Given the description of an element on the screen output the (x, y) to click on. 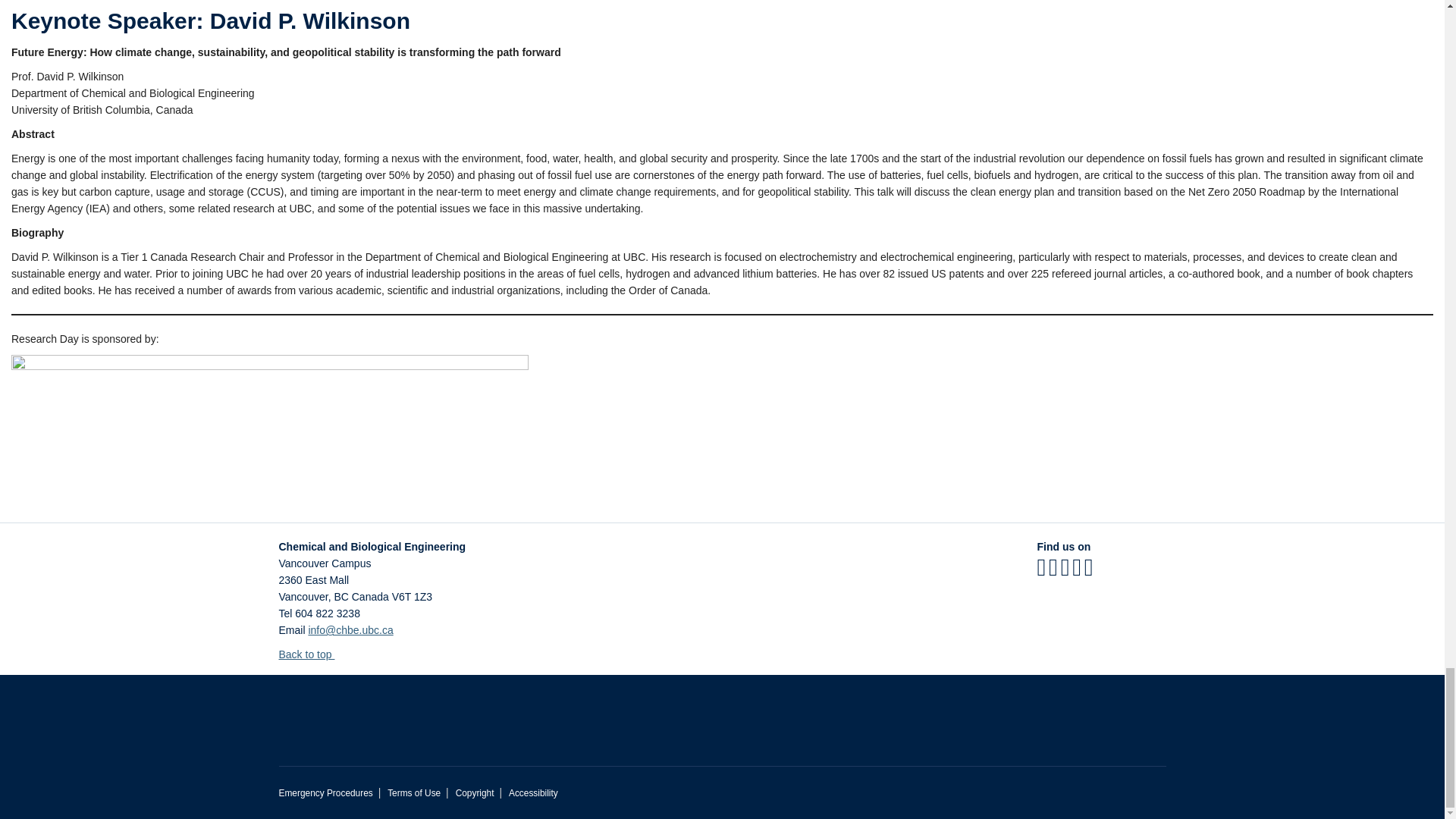
UBC Copyright (475, 792)
Terms of Use (414, 792)
Emergency Procedures (325, 792)
Back to top (312, 654)
Accessibility (532, 792)
